Given the description of an element on the screen output the (x, y) to click on. 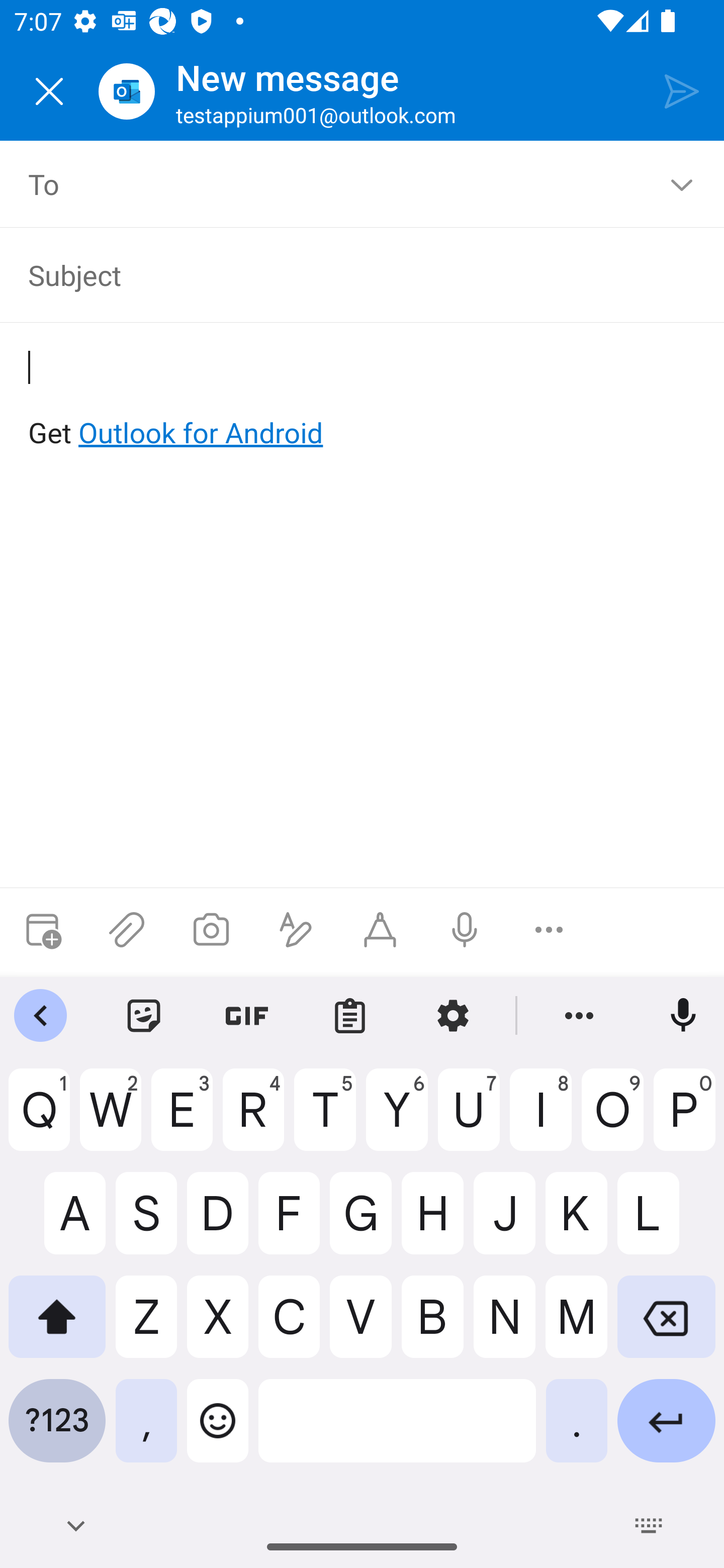
Close (49, 91)
Send (681, 90)
Subject (347, 274)


Get Outlook for Android (363, 400)
Attach meeting (42, 929)
Attach files (126, 929)
Take a photo (210, 929)
Show formatting options (295, 929)
Start Ink compose (380, 929)
Dictation (464, 929)
More options (548, 929)
